Given the description of an element on the screen output the (x, y) to click on. 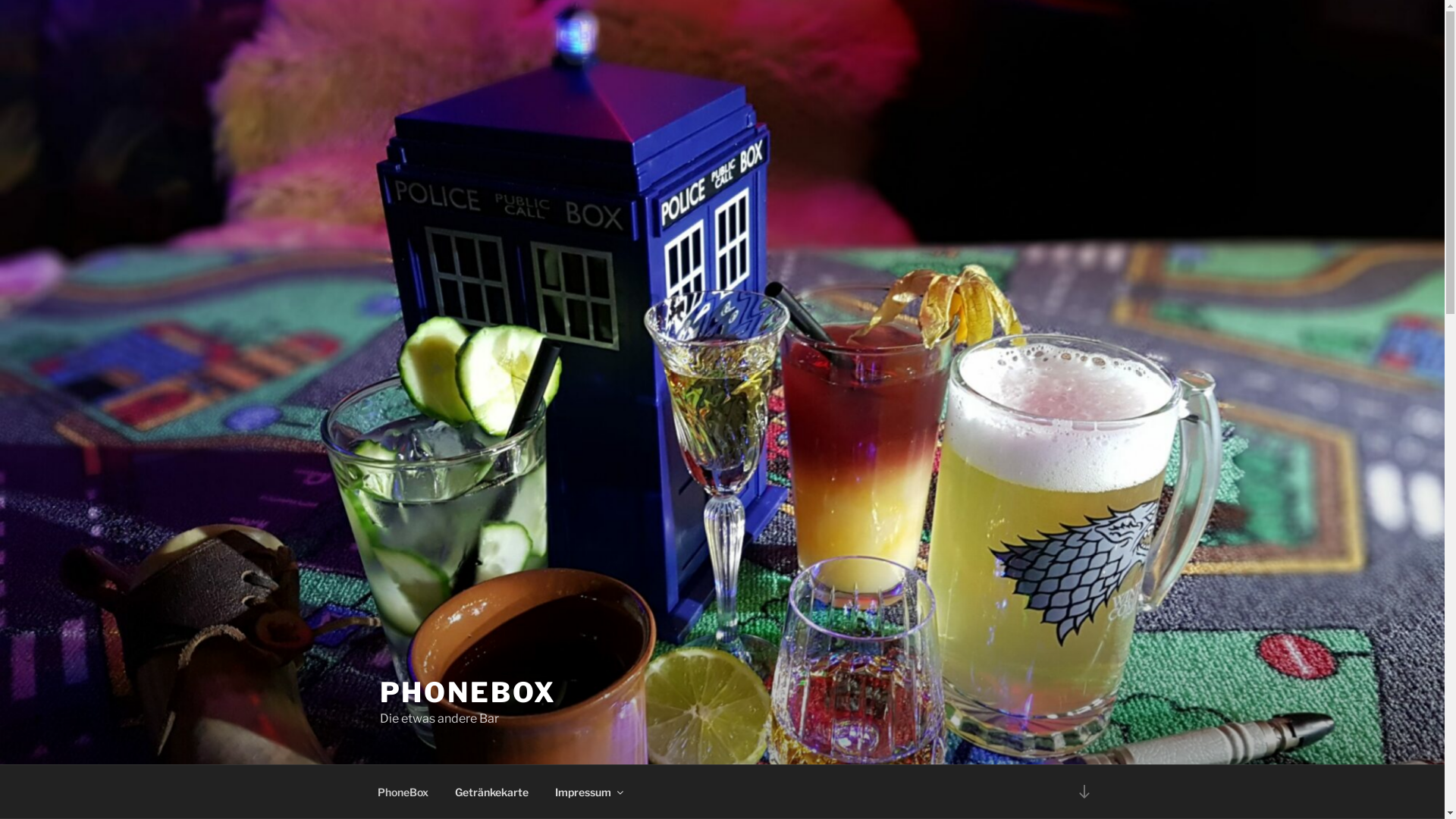
PhoneBox Element type: text (402, 791)
Impressum Element type: text (587, 791)
Zum Inhalt nach unten scrollen Element type: text (1083, 790)
PHONEBOX Element type: text (467, 692)
